Given the description of an element on the screen output the (x, y) to click on. 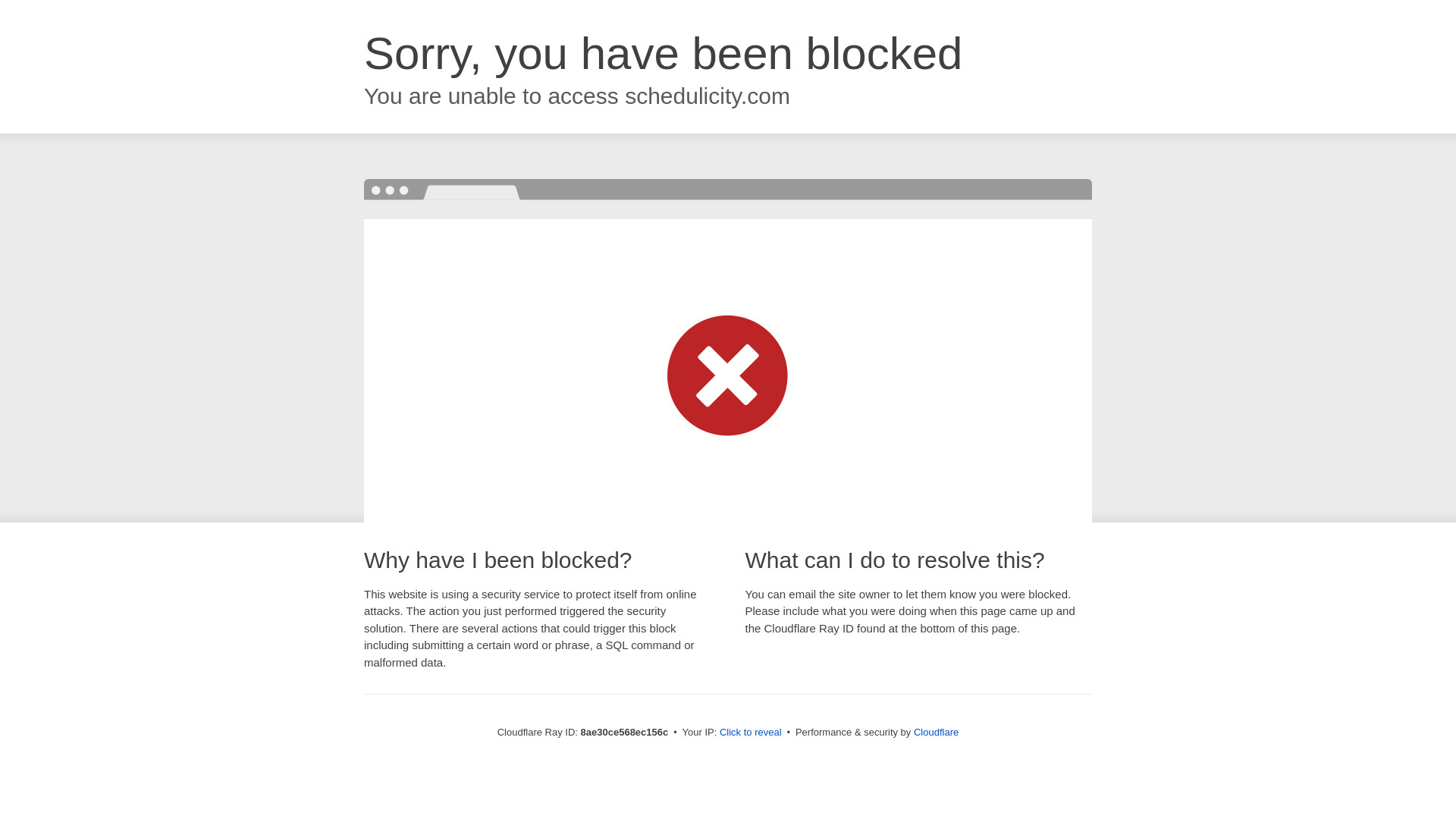
Cloudflare (936, 731)
Click to reveal (750, 732)
